Given the description of an element on the screen output the (x, y) to click on. 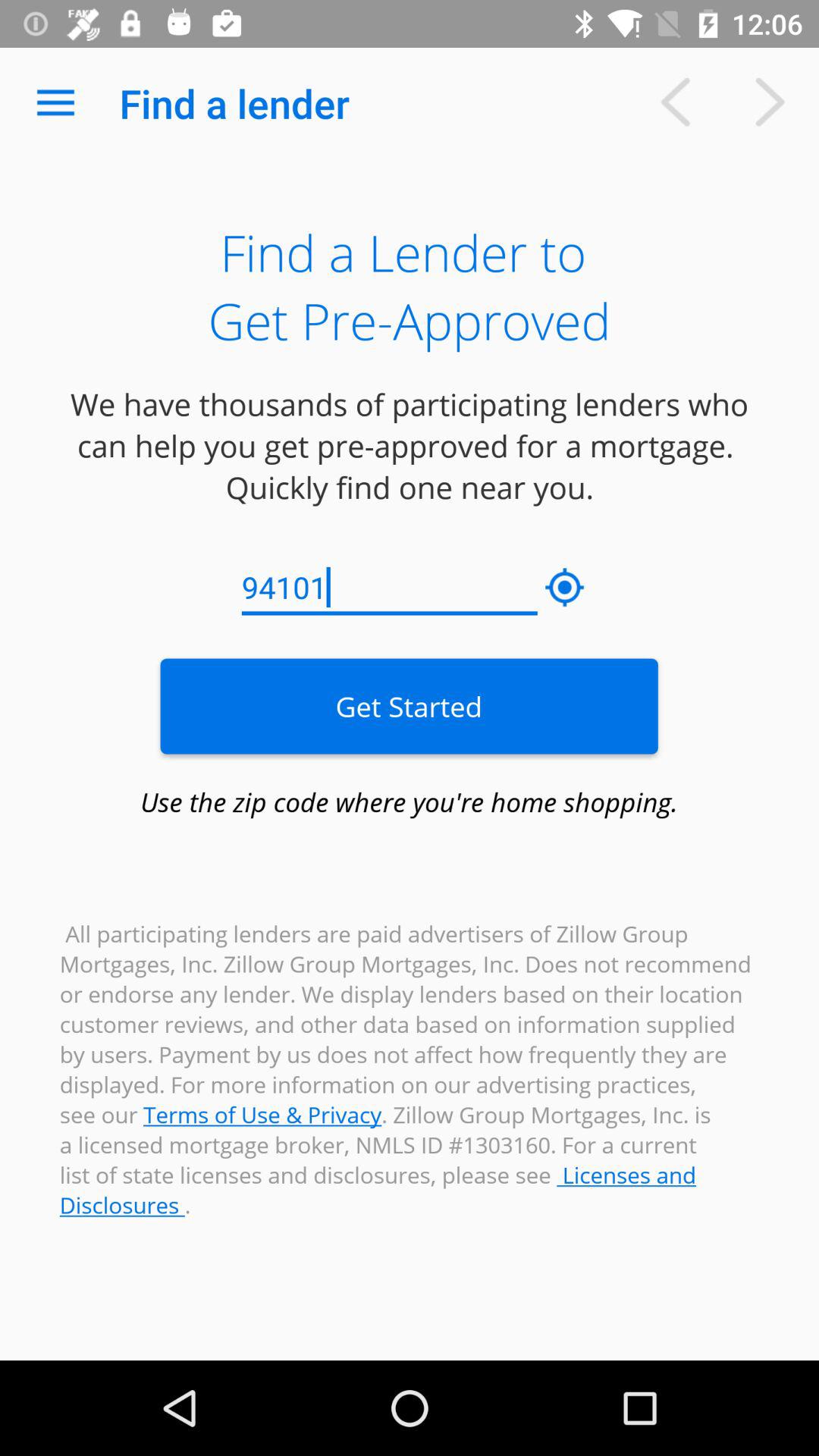
open item below the 94101 icon (409, 706)
